Given the description of an element on the screen output the (x, y) to click on. 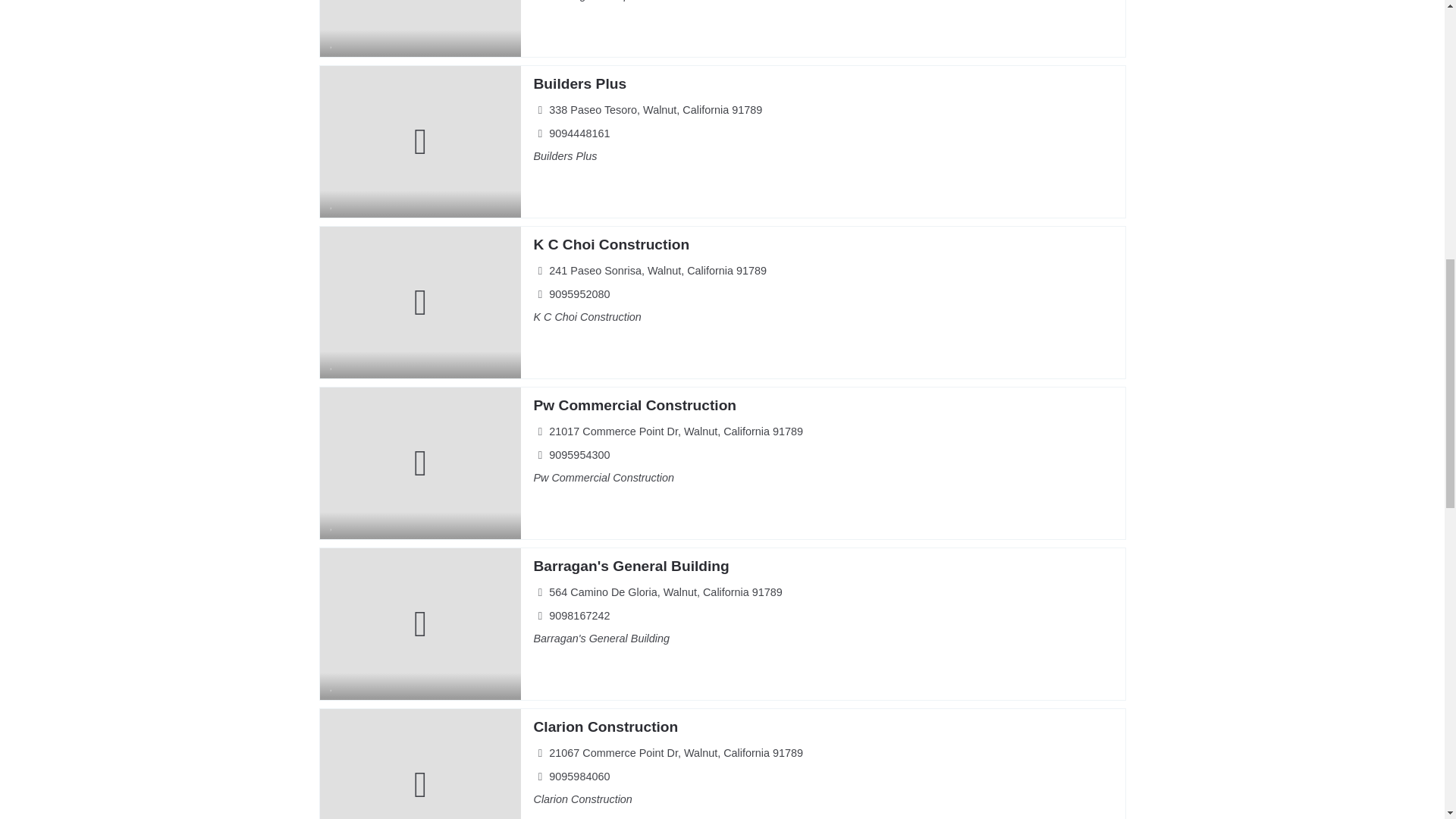
K C Choi Construction (610, 244)
Builders Plus (579, 83)
Barragan's General Building (630, 565)
K C Choi Construction (610, 244)
Clarion Construction (605, 726)
Pw Commercial Construction (634, 405)
Pw Commercial Construction (634, 405)
Builders Plus (579, 83)
